Given the description of an element on the screen output the (x, y) to click on. 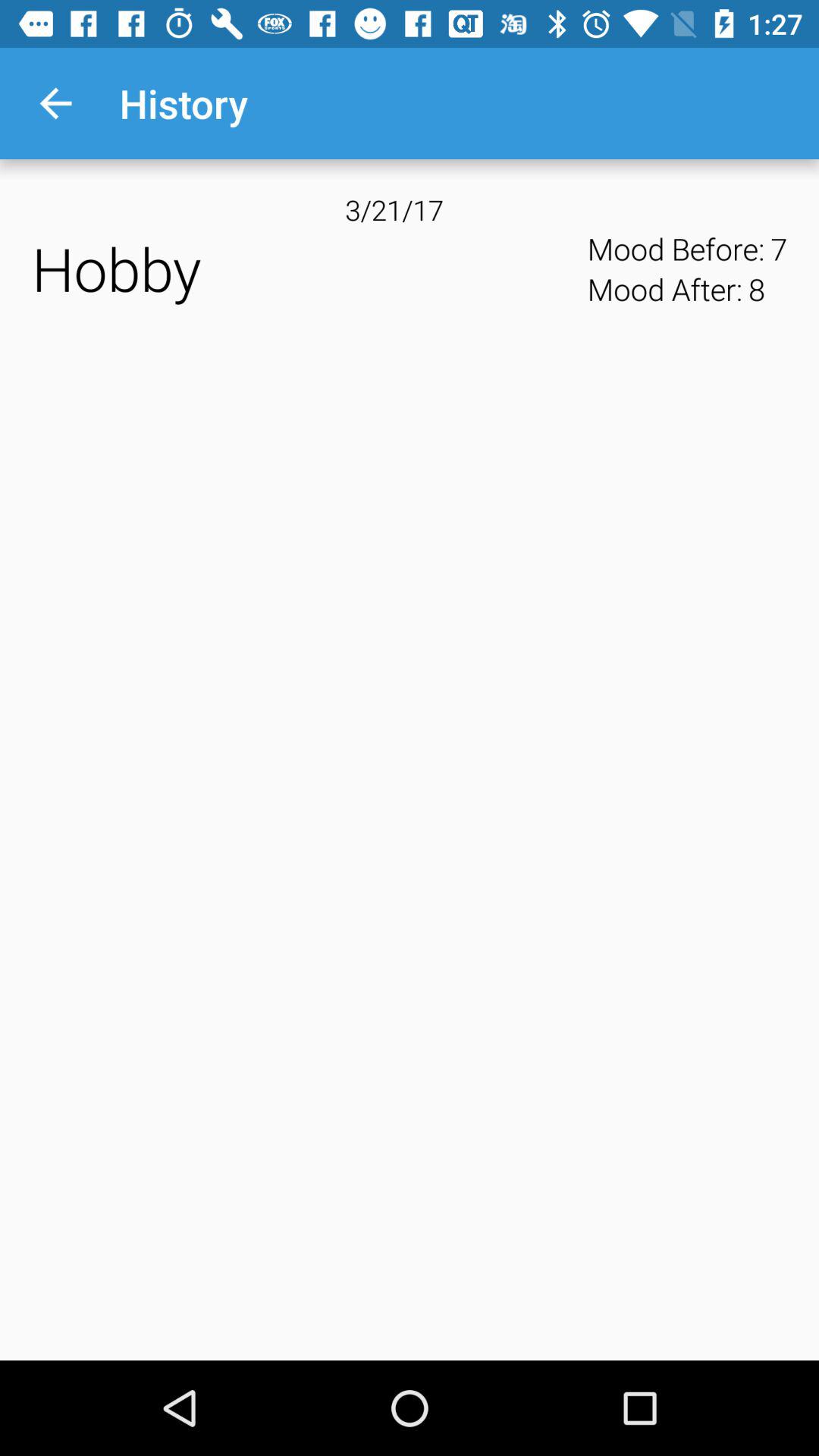
choose item above hobby app (55, 103)
